Given the description of an element on the screen output the (x, y) to click on. 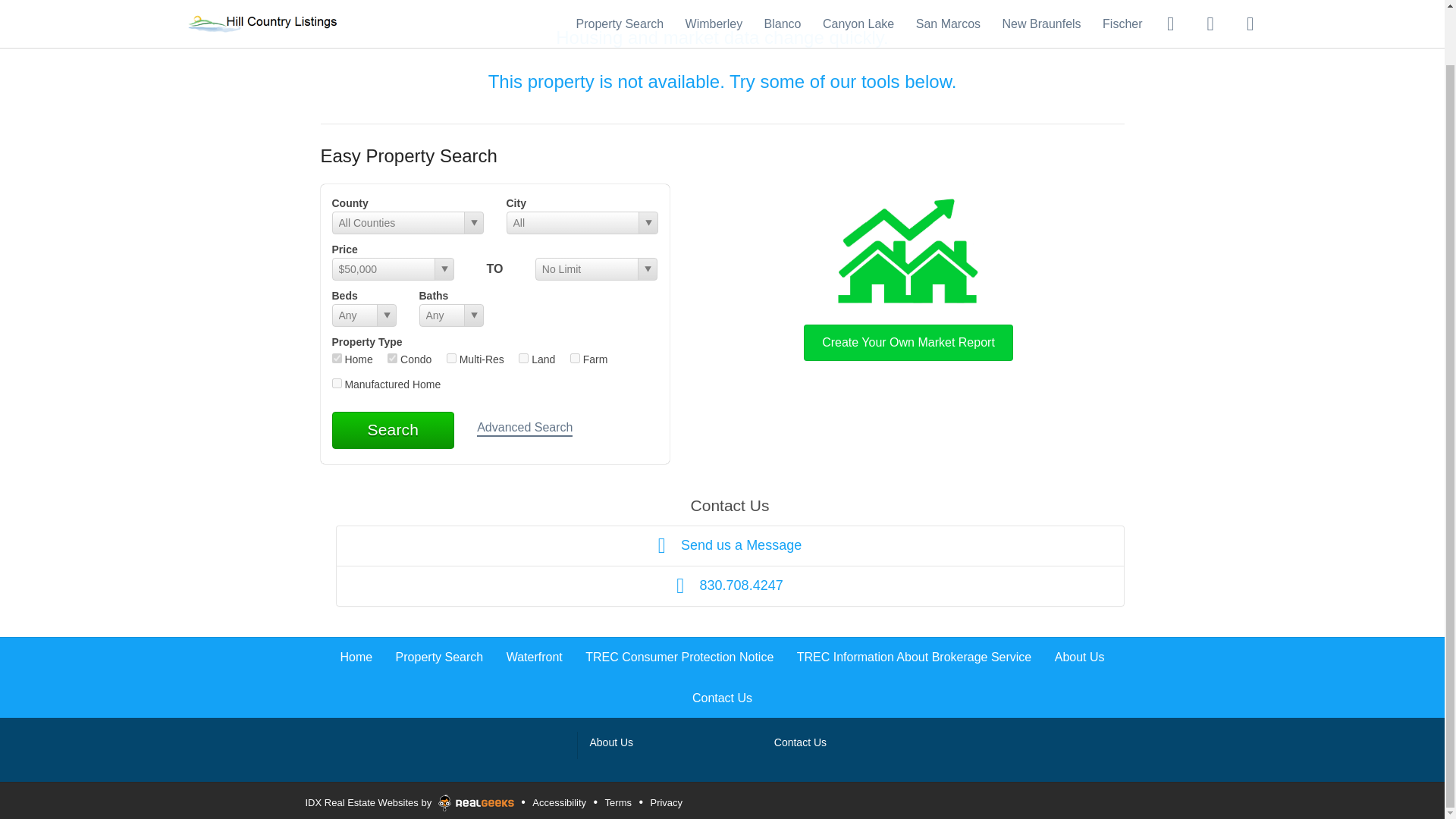
res (336, 357)
About Us (1079, 656)
Search (392, 429)
Home (355, 656)
Advanced Search (524, 428)
TREC Consumer Protection Notice (679, 656)
mul (451, 357)
Waterfront (534, 656)
TREC Information About Brokerage Service (913, 656)
man (336, 383)
